Given the description of an element on the screen output the (x, y) to click on. 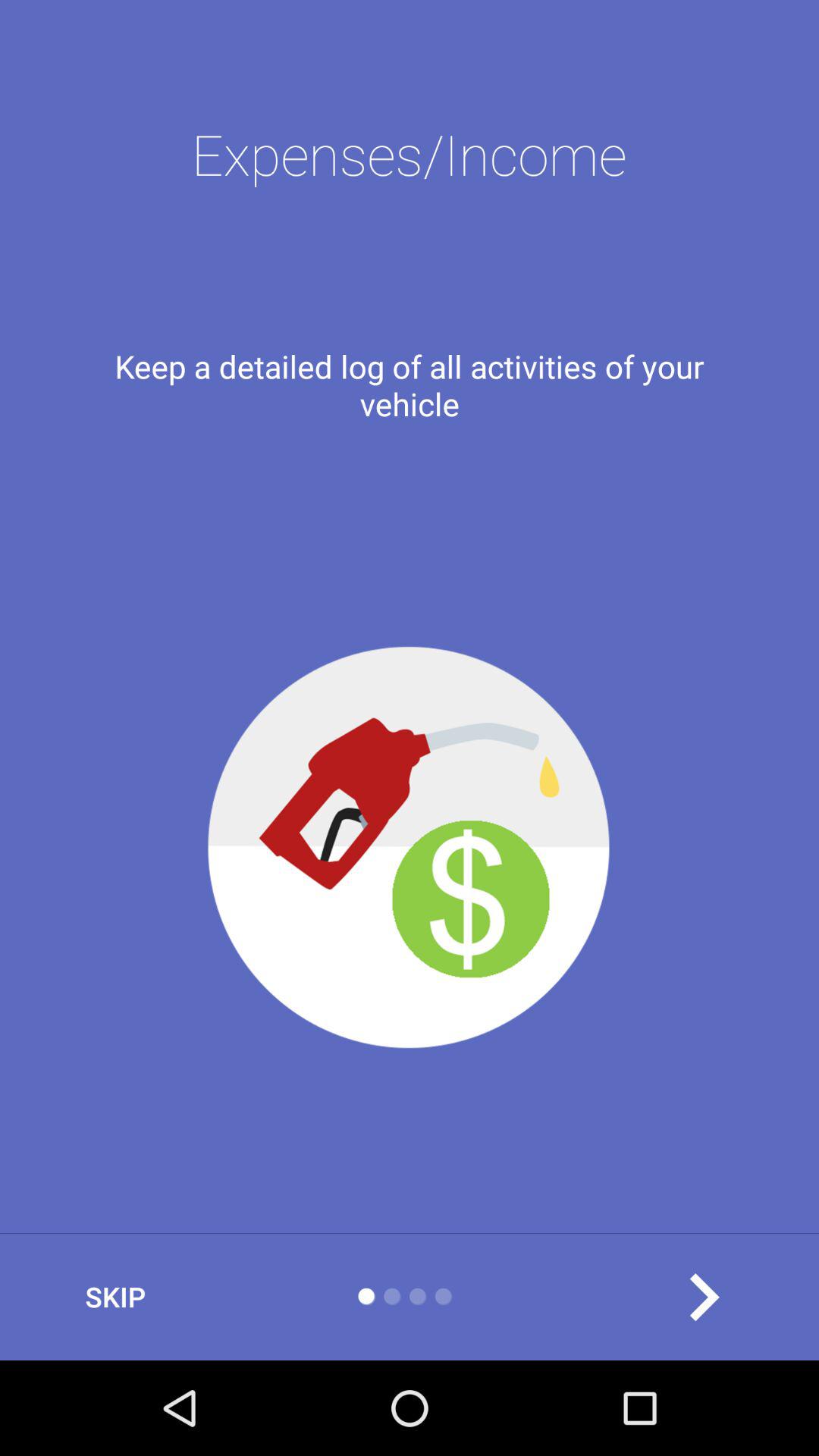
goes to the next page (703, 1296)
